Given the description of an element on the screen output the (x, y) to click on. 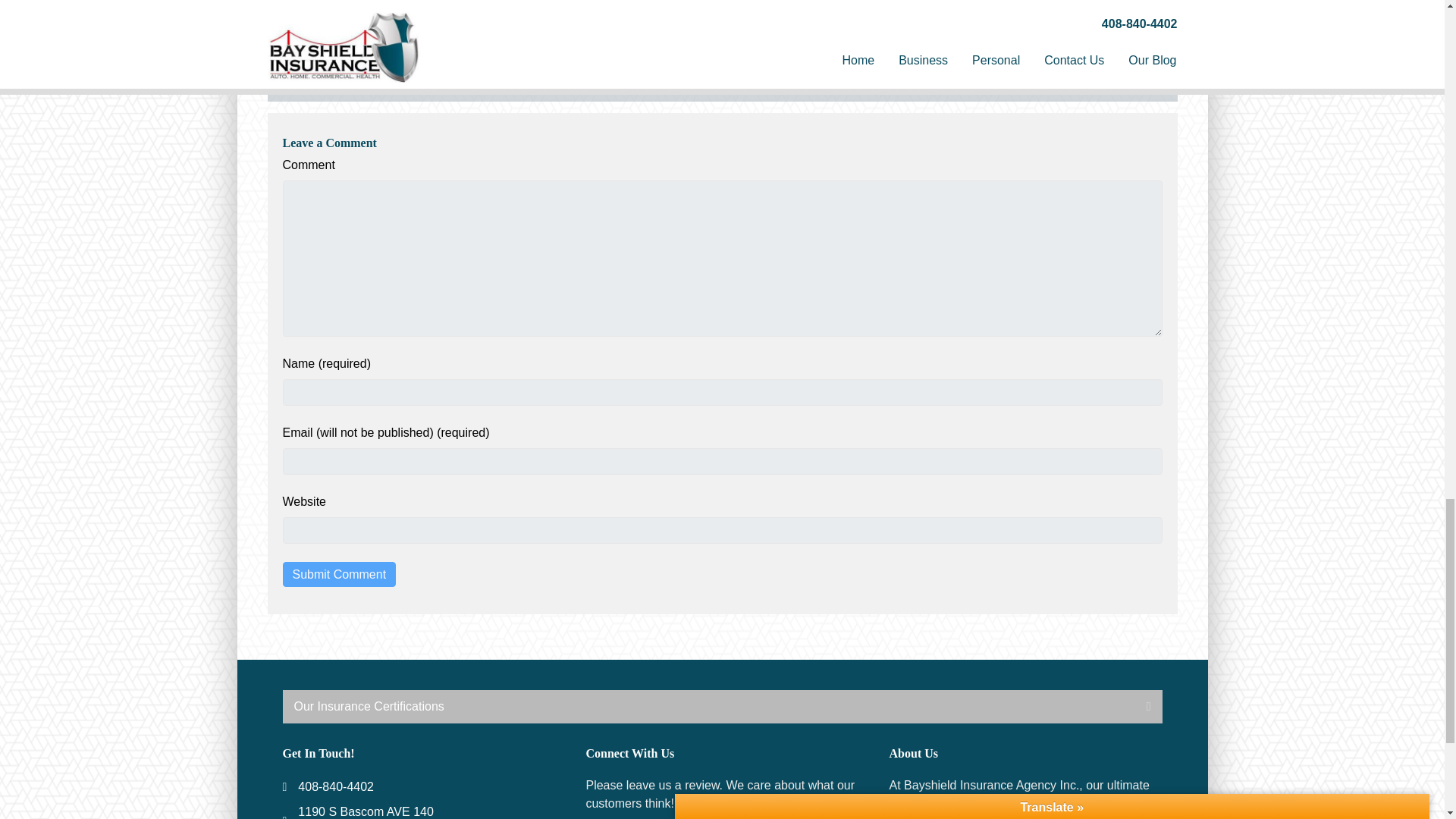
Read More (775, 11)
Read More (982, 31)
Read More (567, 11)
Read More (360, 11)
Taming the Paper Tiger: How to Keep Important Documents Safe (360, 11)
Submit Comment (339, 574)
